Given the description of an element on the screen output the (x, y) to click on. 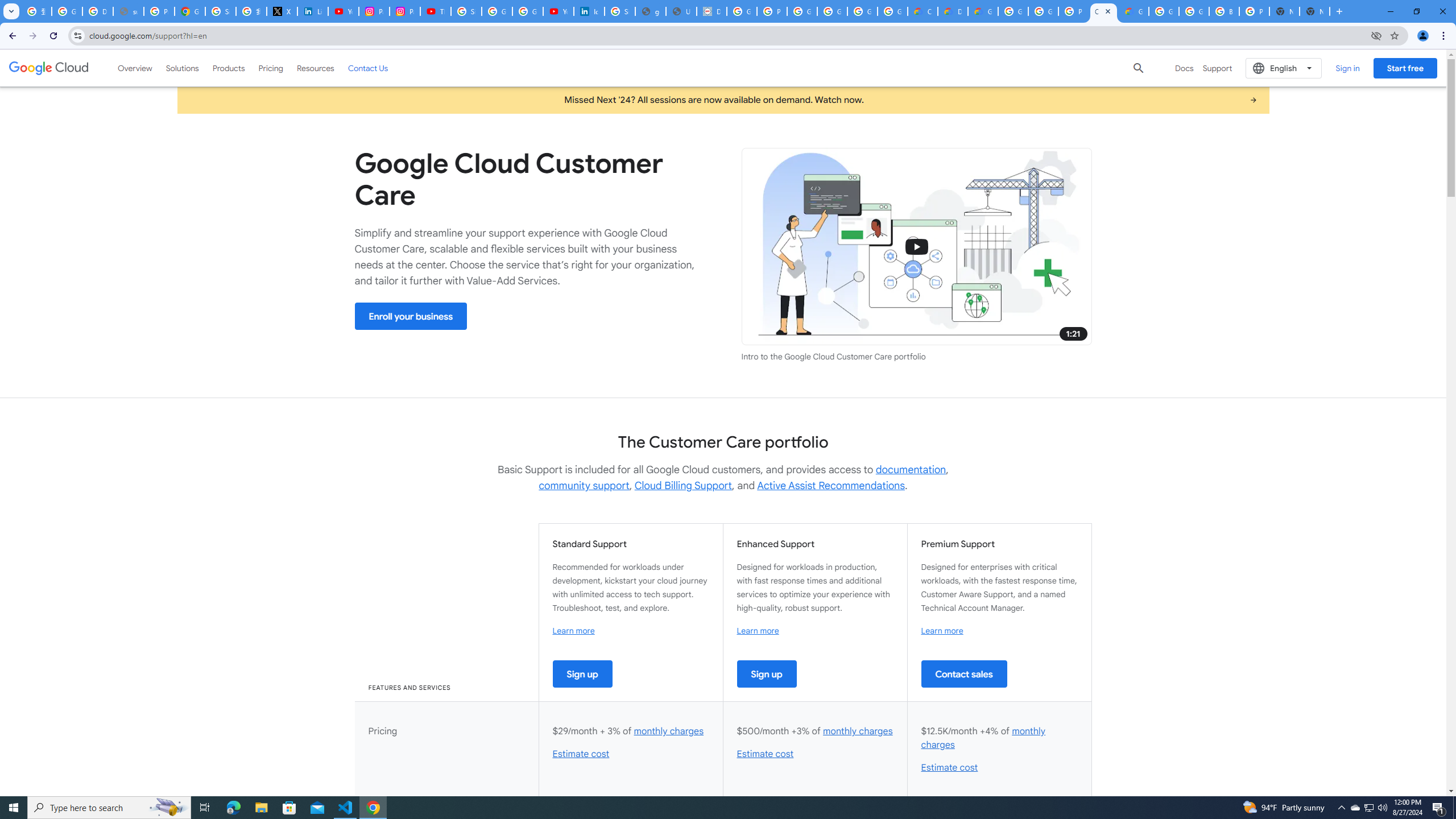
Estimate cost (949, 767)
LinkedIn Privacy Policy (312, 11)
Privacy Help Center - Policies Help (158, 11)
Cloud Billing Support (683, 485)
Active Assist Recommendations (830, 485)
Google Workspace - Specific Terms (892, 11)
Support illustration (916, 246)
Data Privacy Framework (711, 11)
Overview (135, 67)
Enroll your business (410, 316)
